Given the description of an element on the screen output the (x, y) to click on. 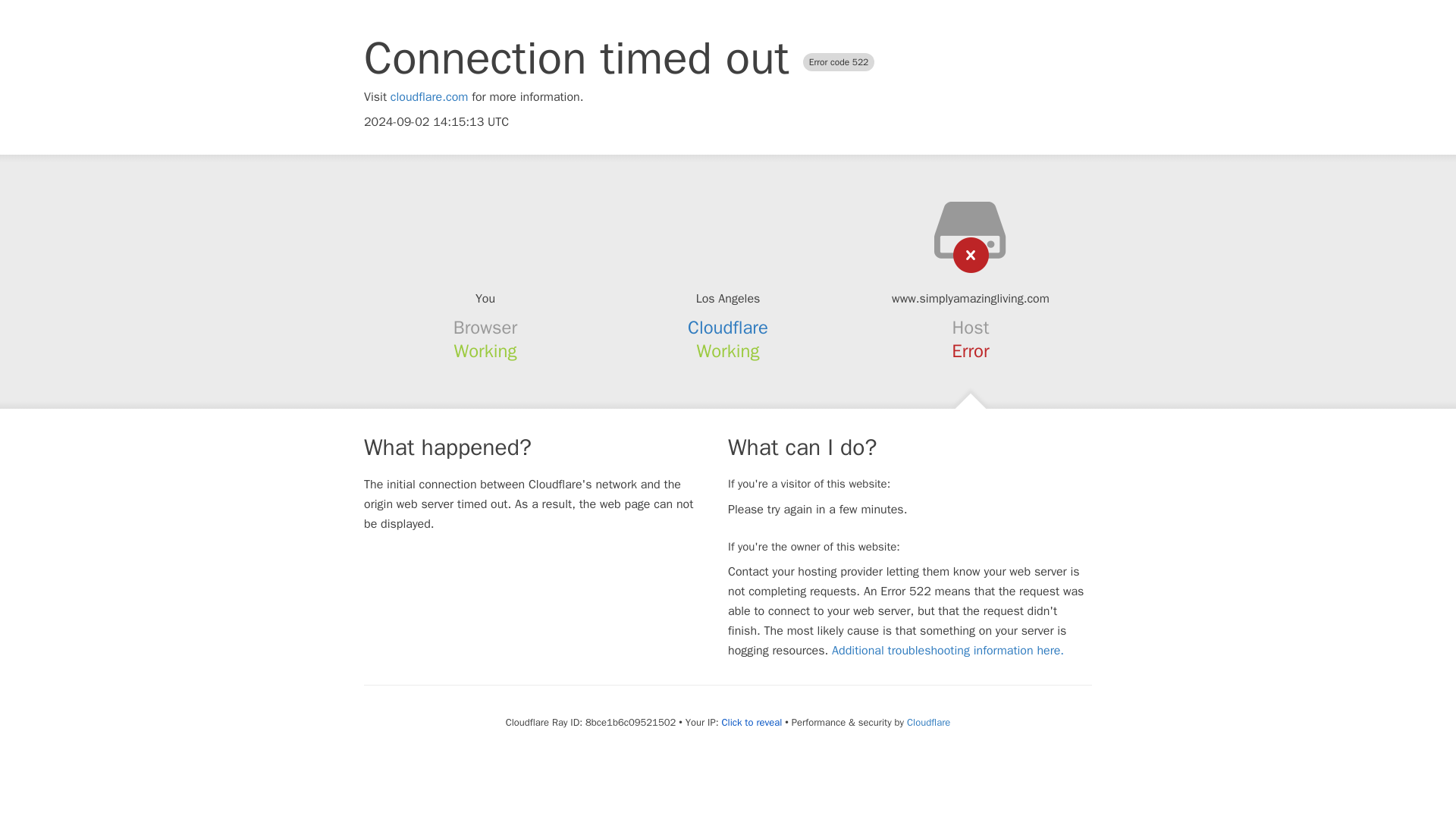
cloudflare.com (429, 96)
Cloudflare (727, 327)
Additional troubleshooting information here. (947, 650)
Click to reveal (750, 722)
Cloudflare (928, 721)
